Given the description of an element on the screen output the (x, y) to click on. 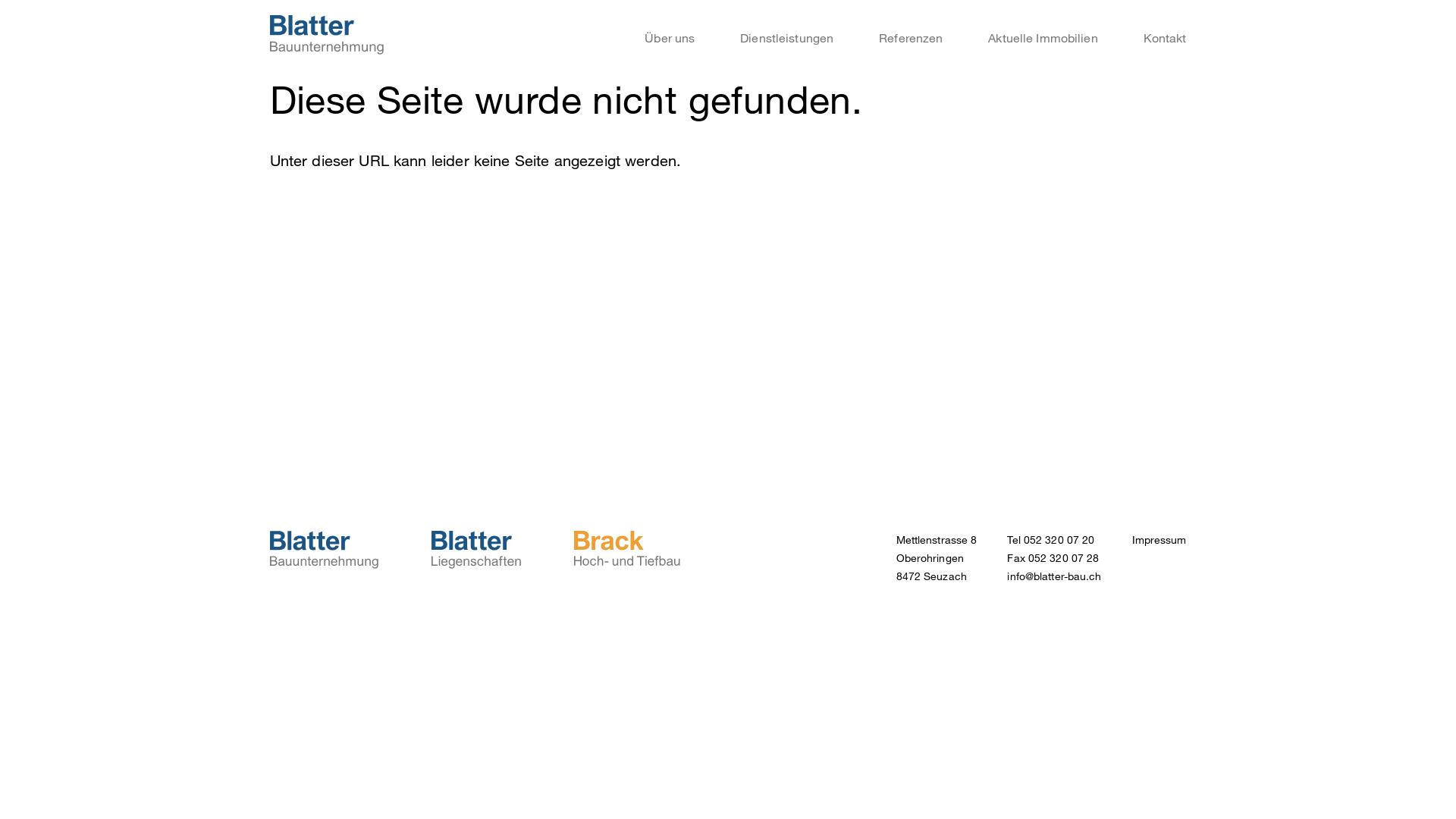
info@blatter-bau.ch Element type: text (1054, 575)
Aktuelle Immobilien Element type: text (1042, 37)
Referenzen Element type: text (910, 37)
Impressum Element type: text (1158, 539)
Dienstleistungen Element type: text (786, 37)
Kontakt Element type: text (1164, 37)
